Given the description of an element on the screen output the (x, y) to click on. 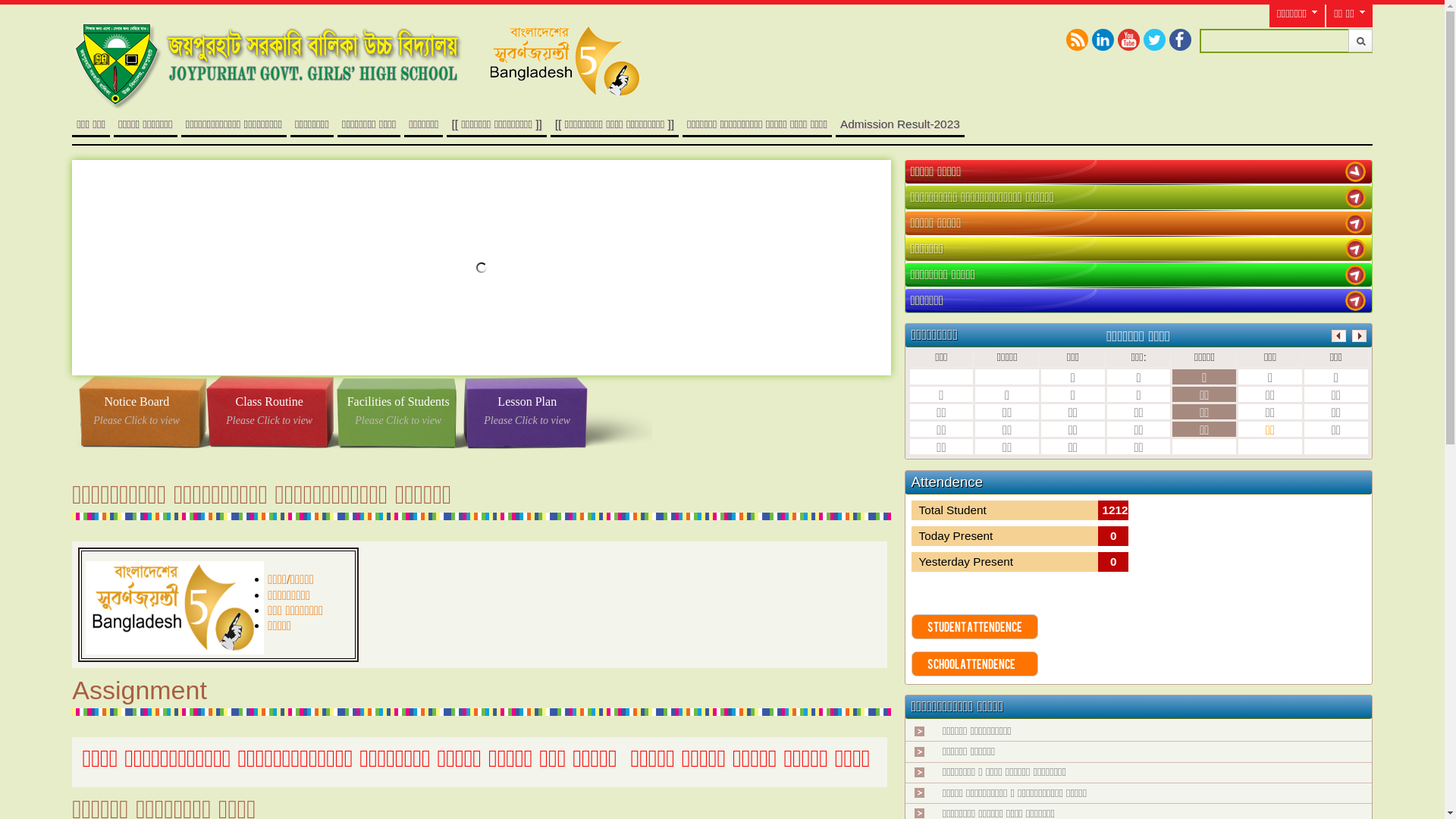
  Element type: text (1355, 248)
Assignment Element type: text (139, 689)
Notice Board
Please Click to view Element type: text (136, 411)
  Element type: text (1355, 223)
Class Routine
Please Click to view Element type: text (268, 411)
Lesson Plan
Please Click to view Element type: text (526, 411)
  Element type: text (1355, 300)
  Element type: text (1355, 171)
Student Attendence Element type: text (974, 626)
Submit Element type: text (1360, 40)
  Element type: text (1355, 197)
Admission Result-2023 Element type: text (899, 123)
Facilities of Students
Please Click to view Element type: text (397, 411)
School Attendence Element type: text (974, 663)
  Element type: text (1355, 274)
